Given the description of an element on the screen output the (x, y) to click on. 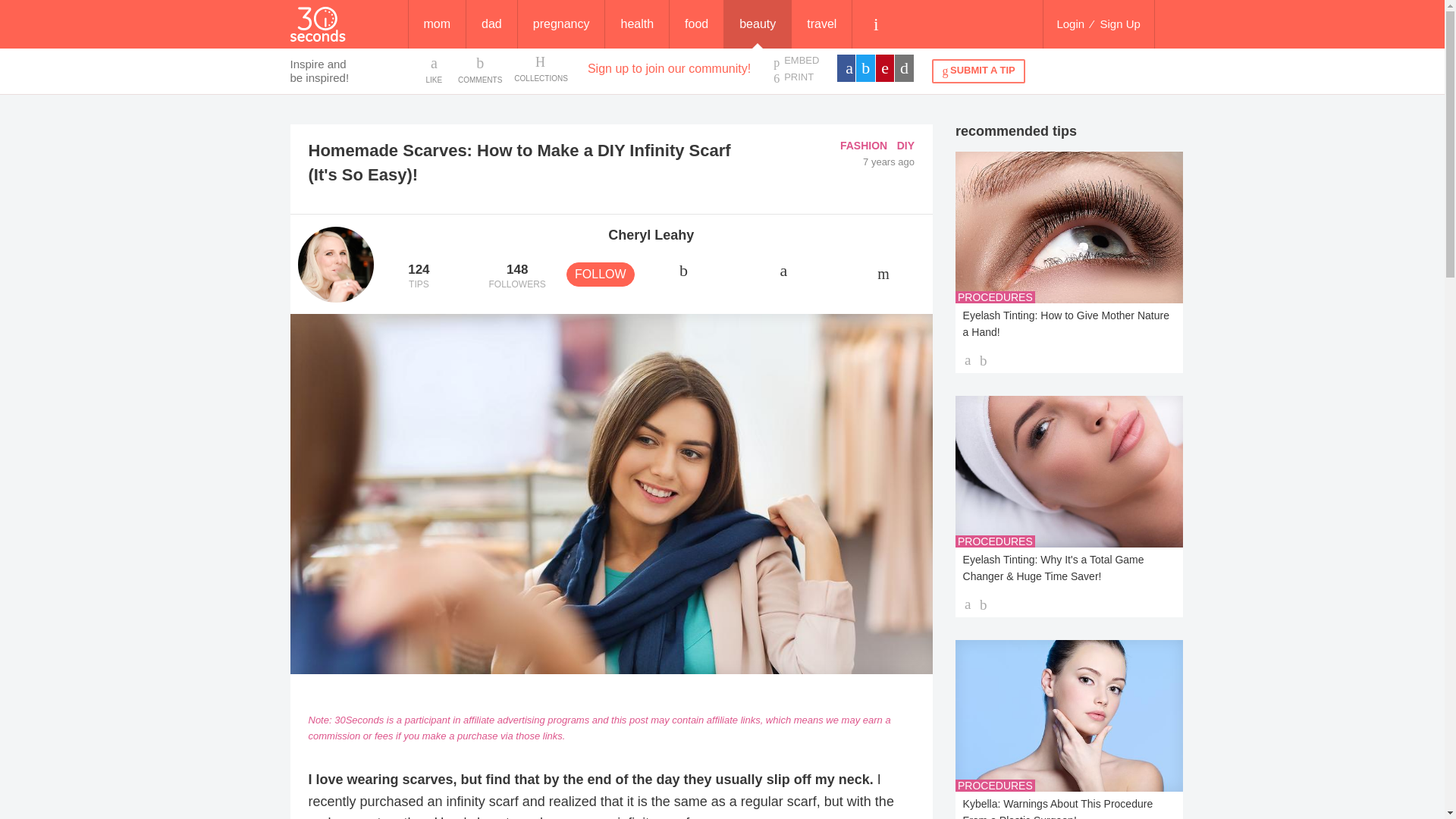
dad (516, 276)
food (490, 24)
EMBED (696, 24)
health (795, 61)
FASHION (636, 24)
COLLECTIONS (863, 145)
travel (418, 276)
mom (540, 68)
Sign Up (821, 24)
PRINT (436, 24)
COMMENTS (1120, 23)
pregnancy (795, 77)
FOLLOW (480, 68)
